Given the description of an element on the screen output the (x, y) to click on. 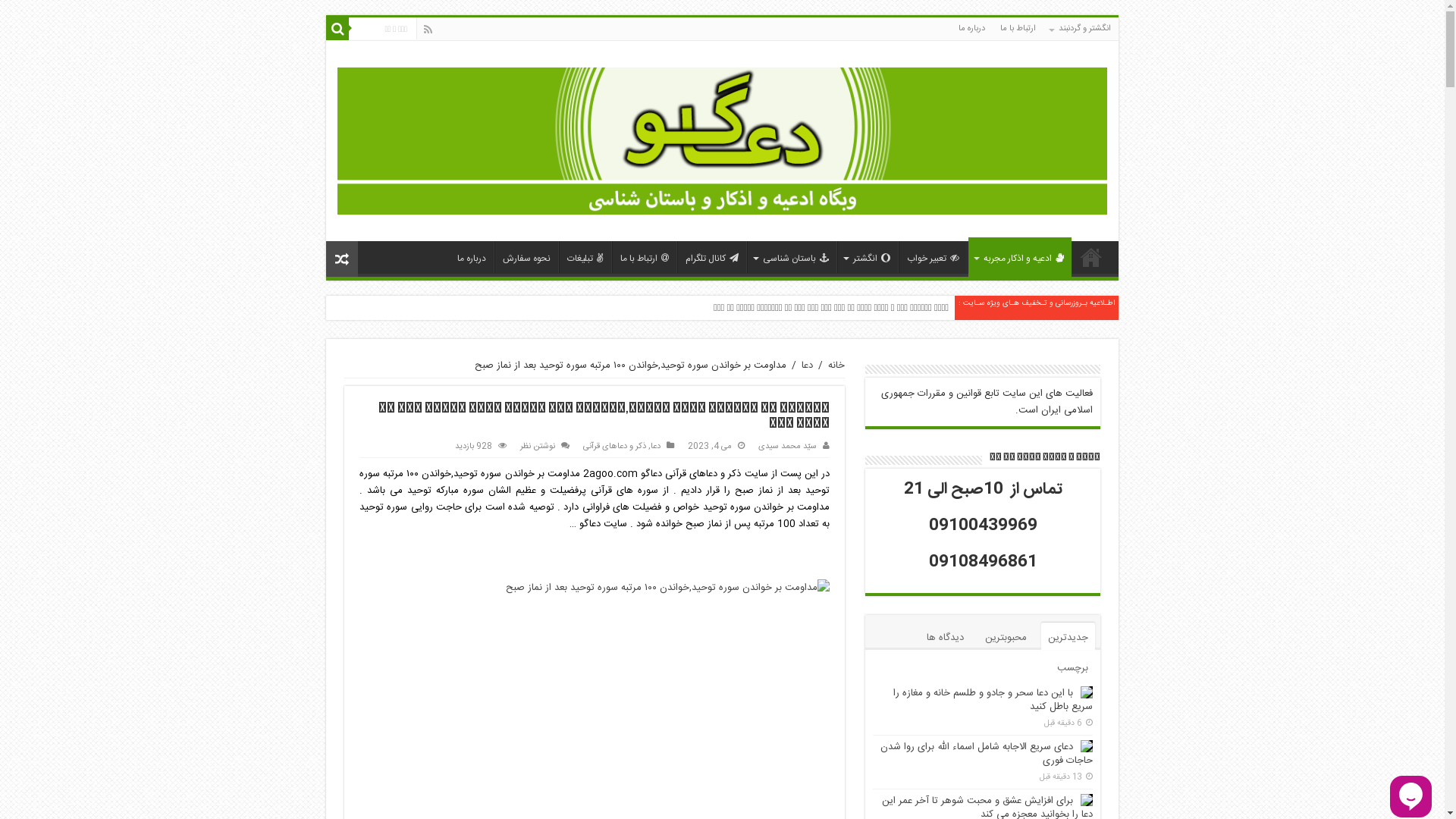
Rss Element type: hover (427, 29)
